Given the description of an element on the screen output the (x, y) to click on. 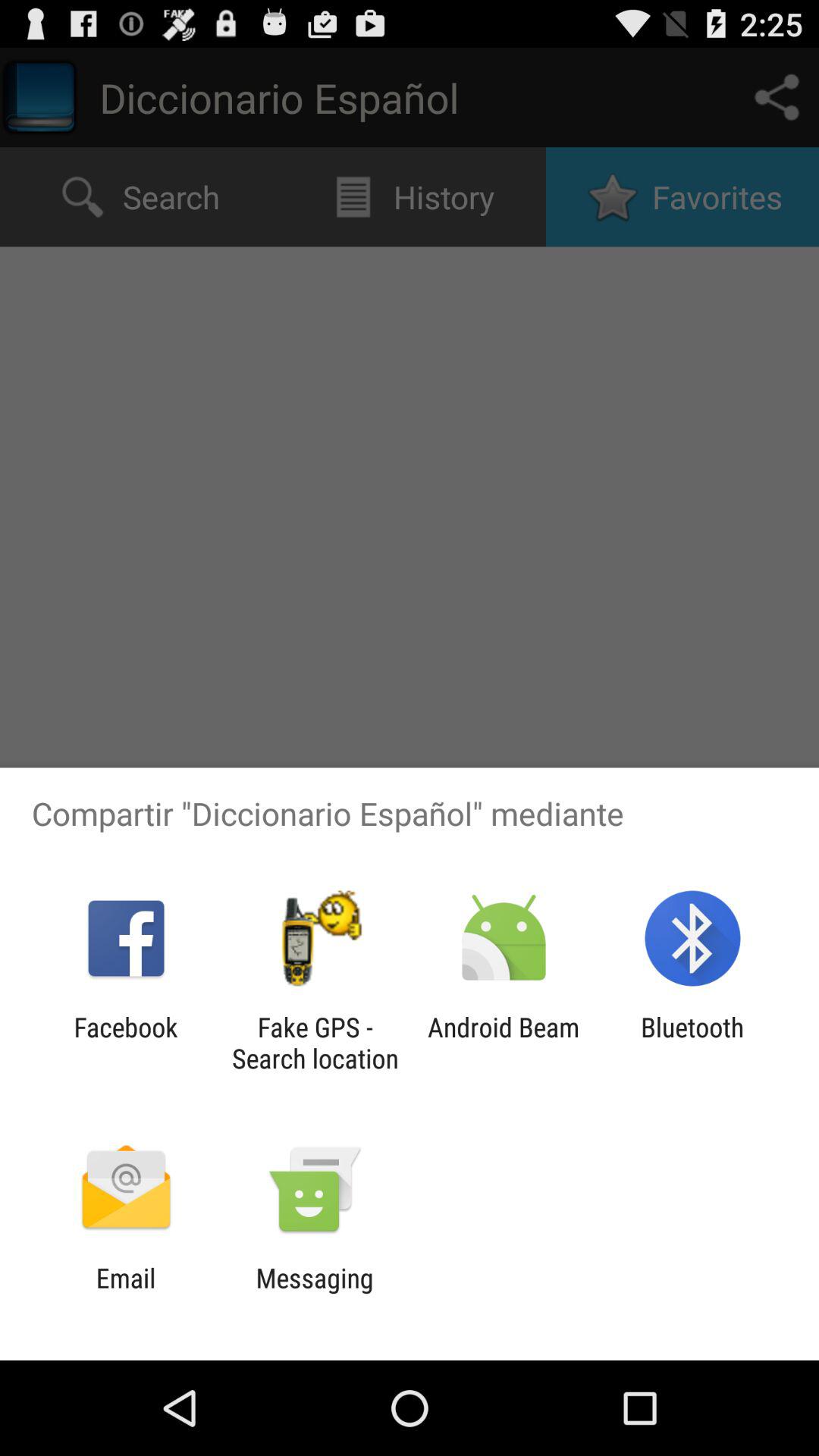
click the icon next to the android beam item (691, 1042)
